Given the description of an element on the screen output the (x, y) to click on. 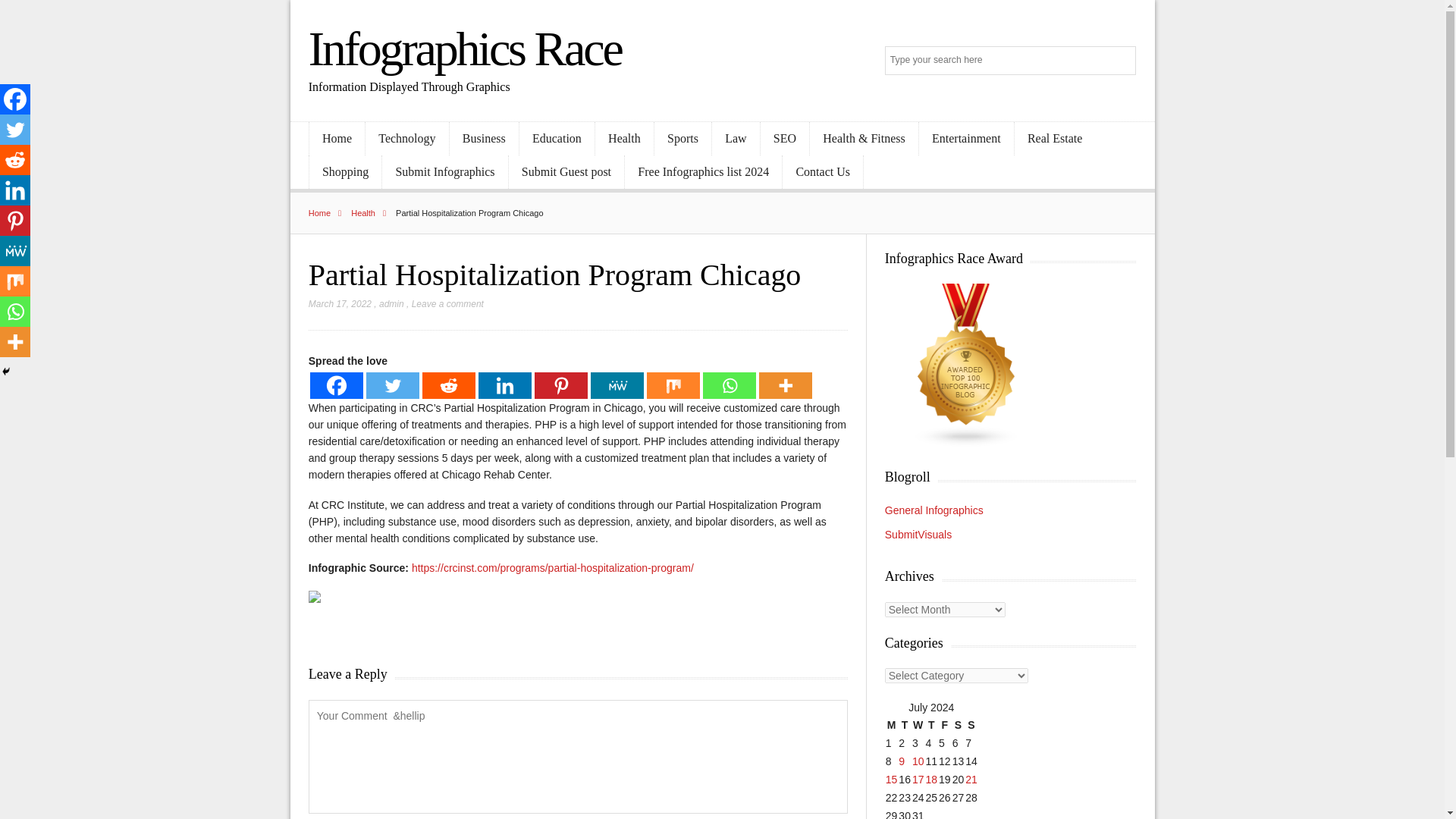
Facebook (15, 99)
Mix (673, 385)
Twitter (15, 129)
Real Estate (1055, 139)
Technology (406, 139)
Twitter (392, 385)
Facebook (336, 385)
Health (371, 212)
Pinterest (561, 385)
Shopping (344, 172)
Sports (682, 139)
Contact Us (823, 172)
Home (336, 139)
Home (328, 212)
Posts by admin (391, 303)
